Given the description of an element on the screen output the (x, y) to click on. 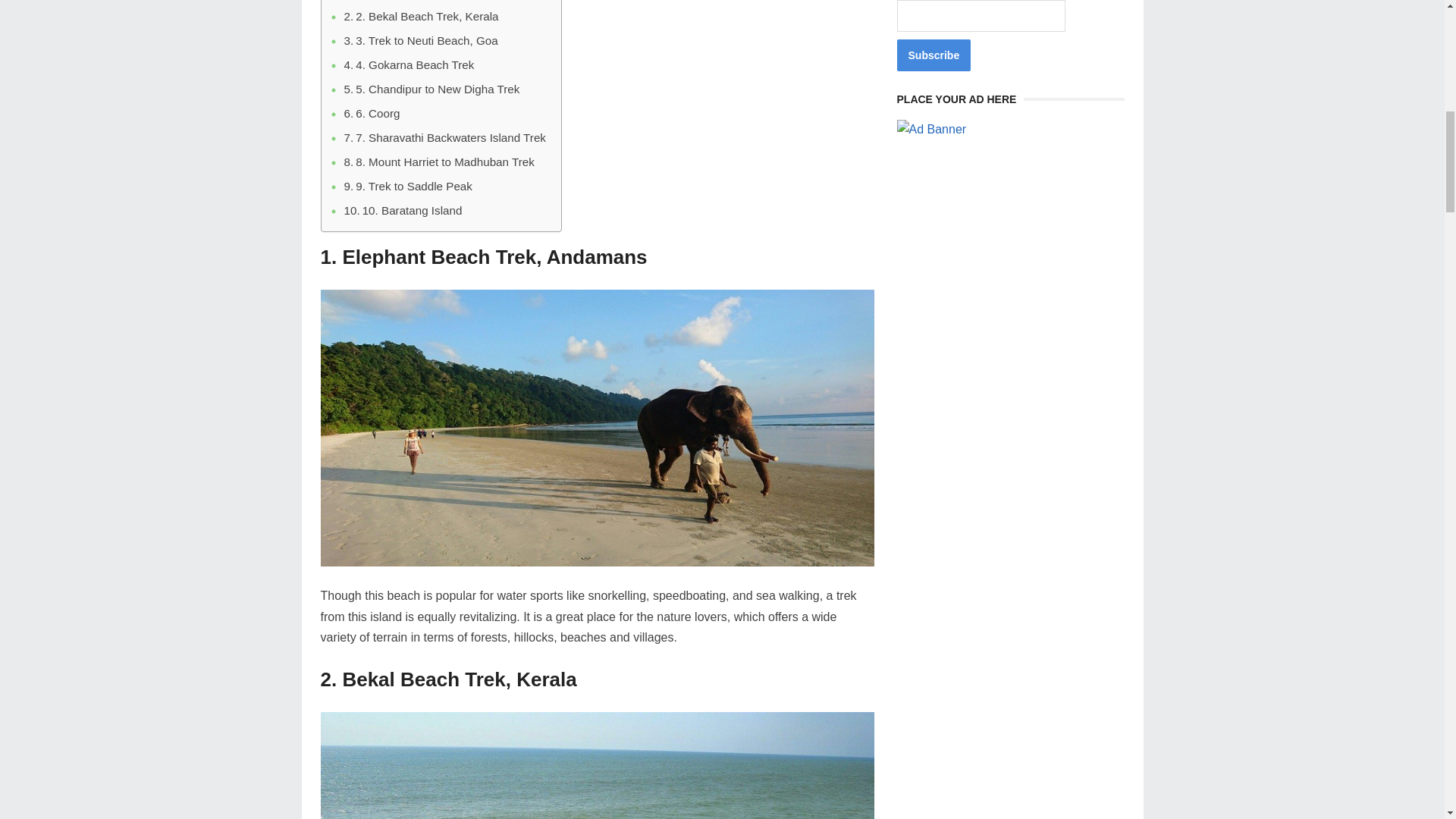
10. Baratang Island (403, 210)
2. Bekal Beach Trek, Kerala (421, 16)
4. Gokarna Beach Trek (408, 65)
3. Trek to Neuti Beach, Goa (420, 40)
8. Mount Harriet to Madhuban Trek (438, 162)
6. Coorg (371, 113)
Subscribe (933, 55)
7. Sharavathi Backwaters Island Trek (444, 137)
5. Chandipur to New Digha Trek (431, 89)
9. Trek to Saddle Peak (407, 186)
